Given the description of an element on the screen output the (x, y) to click on. 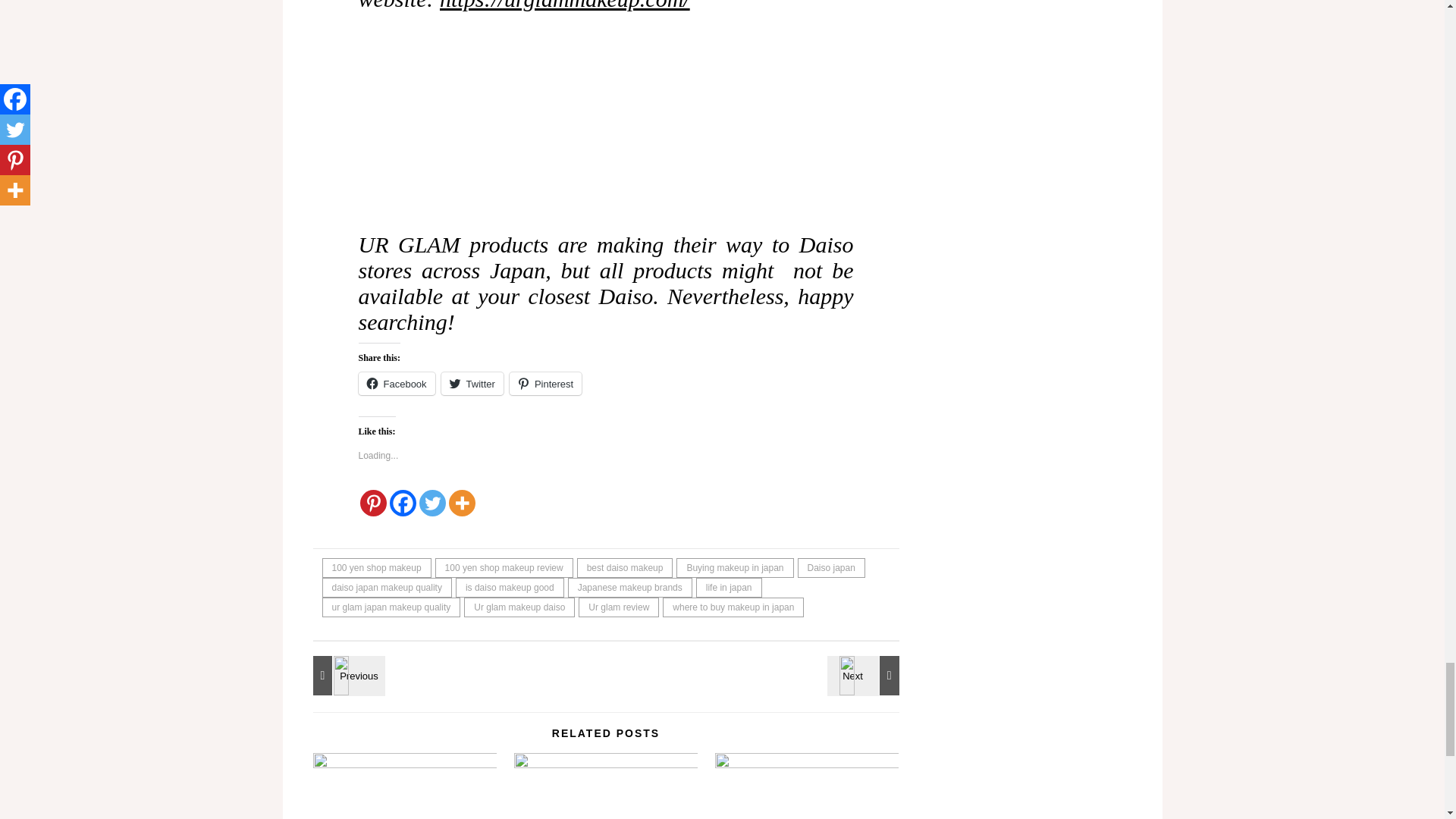
Facebook (403, 502)
Twitter (432, 502)
Twitter (472, 383)
Click to share on Pinterest (544, 383)
Click to share on Twitter (472, 383)
Click to share on Facebook (395, 383)
More (462, 502)
Pinterest (372, 502)
Facebook (395, 383)
Pinterest (544, 383)
